Given the description of an element on the screen output the (x, y) to click on. 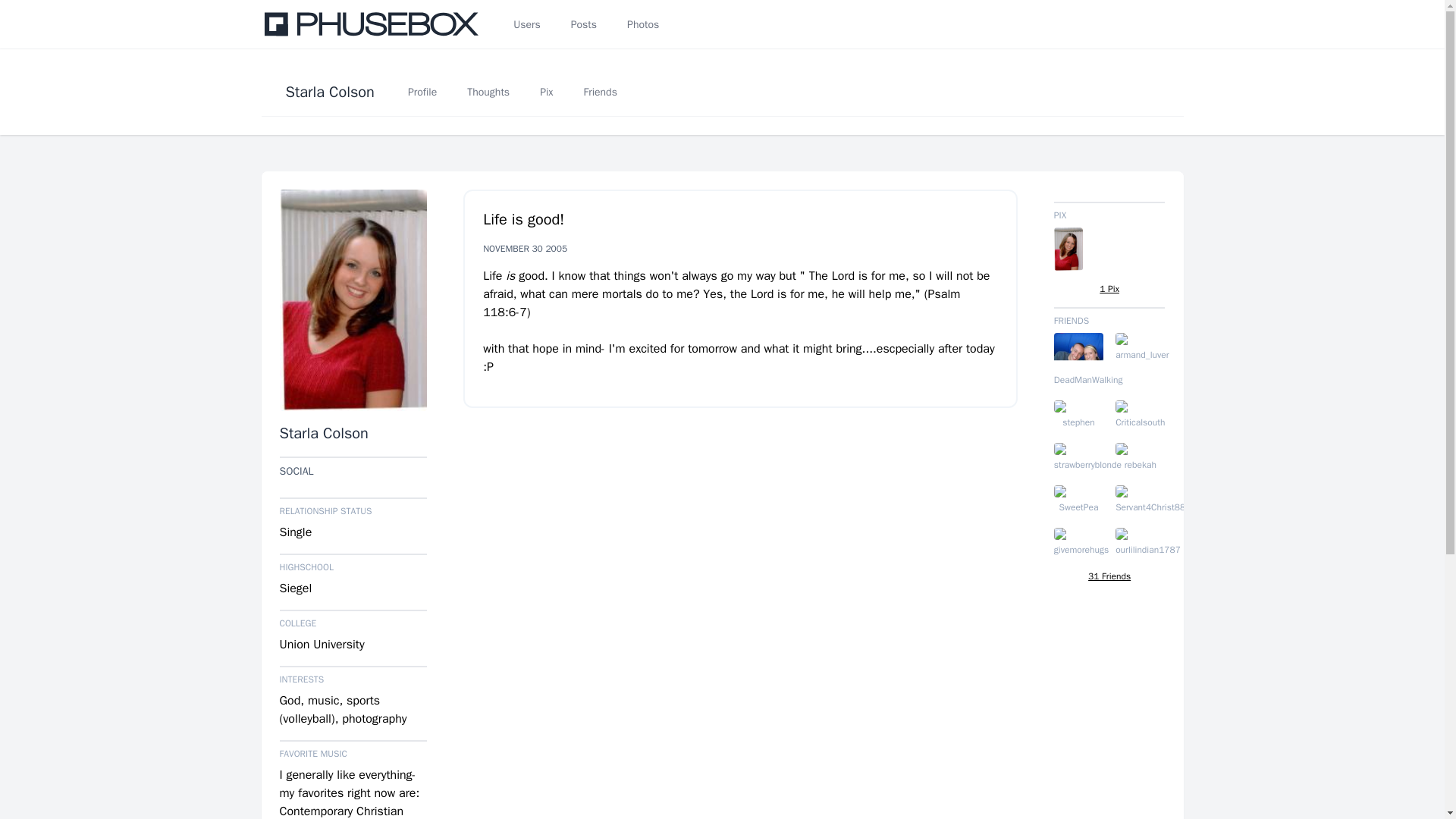
Thoughts (488, 91)
God (289, 700)
photography (374, 718)
music (323, 700)
Starla Colson (323, 433)
Siegel (295, 588)
Union University (321, 644)
Starla Colson (329, 90)
